Given the description of an element on the screen output the (x, y) to click on. 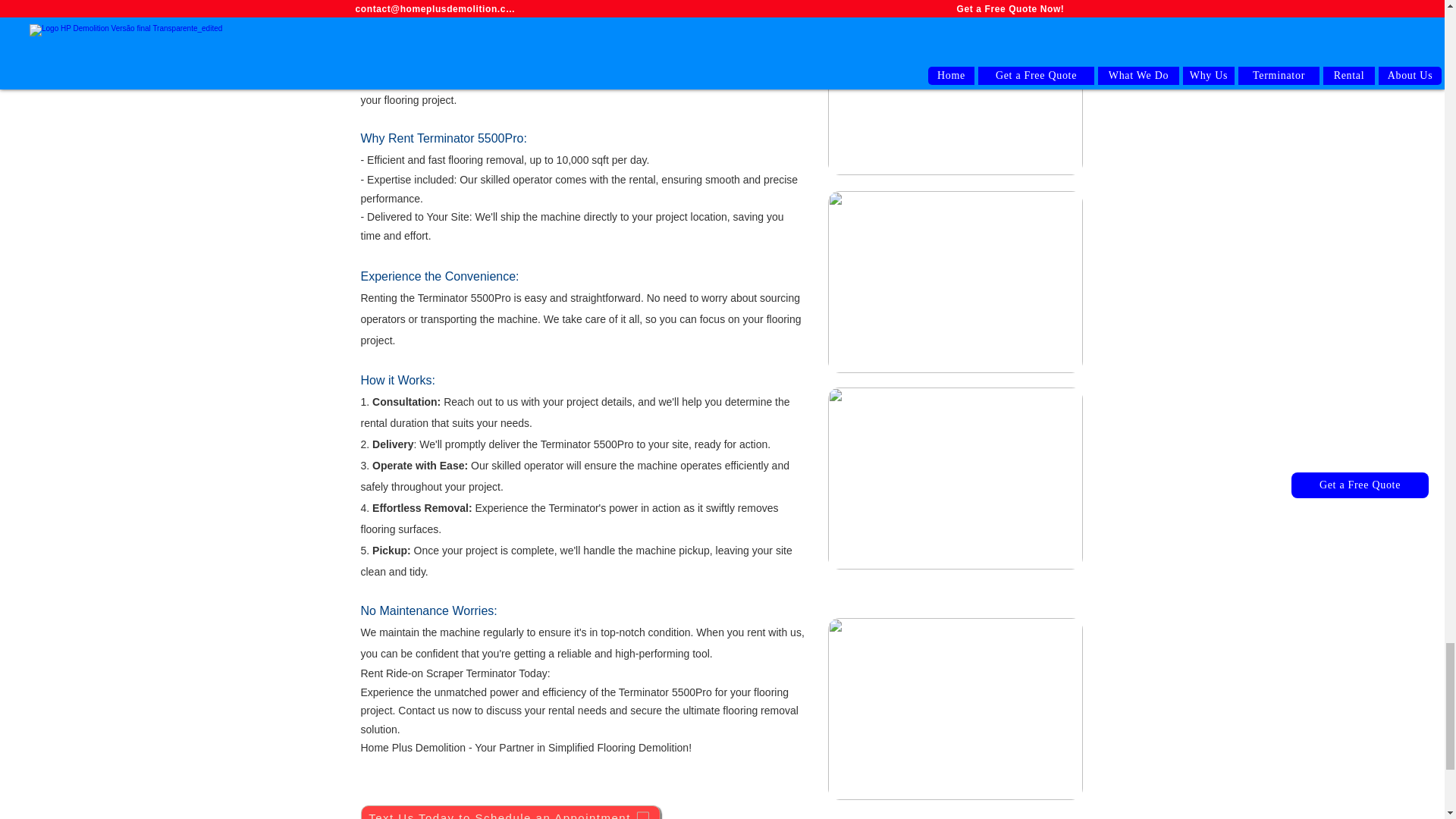
Text Us Today to Schedule an Appointment (511, 812)
